Given the description of an element on the screen output the (x, y) to click on. 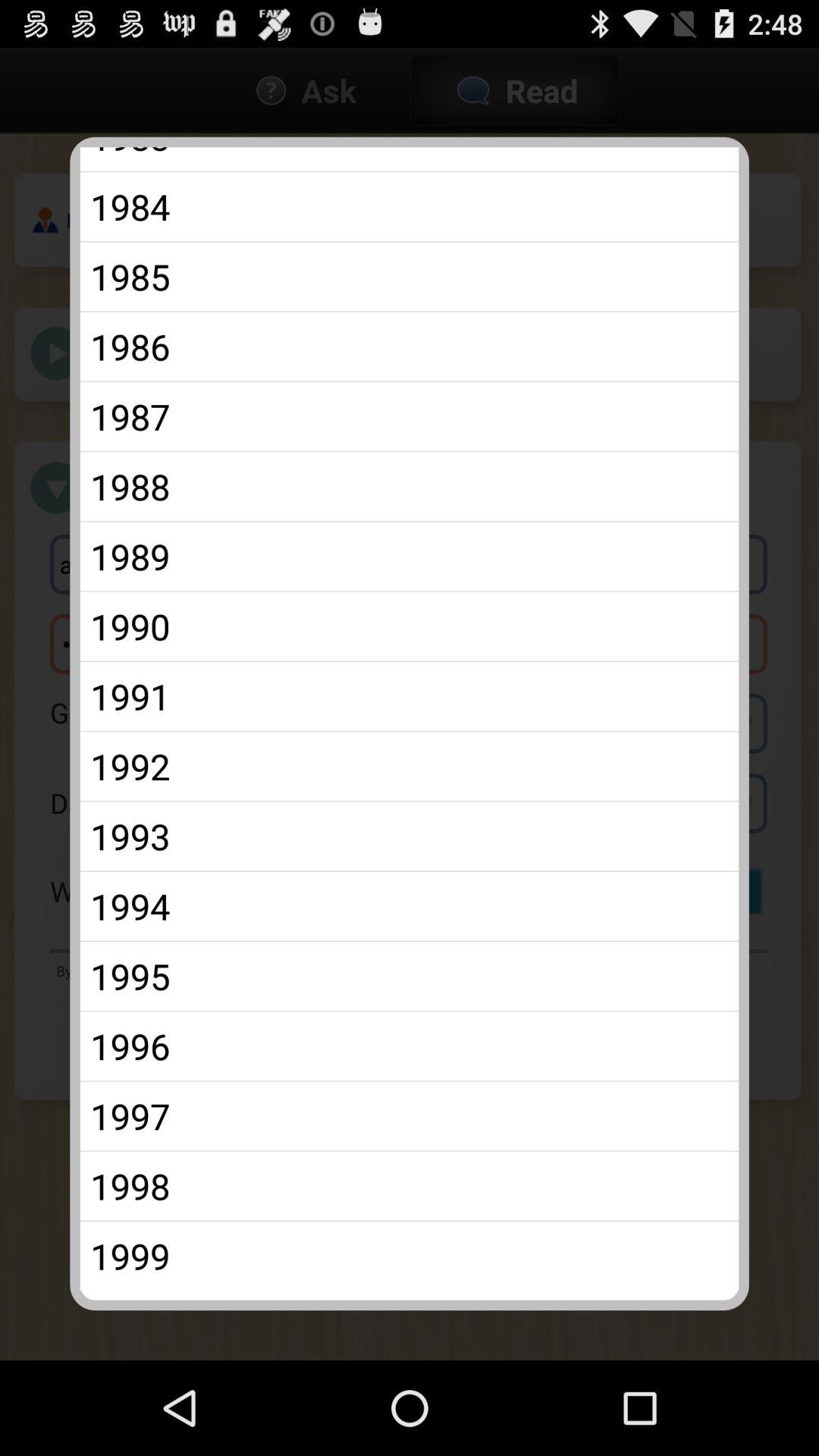
press icon below 1987 icon (409, 486)
